Given the description of an element on the screen output the (x, y) to click on. 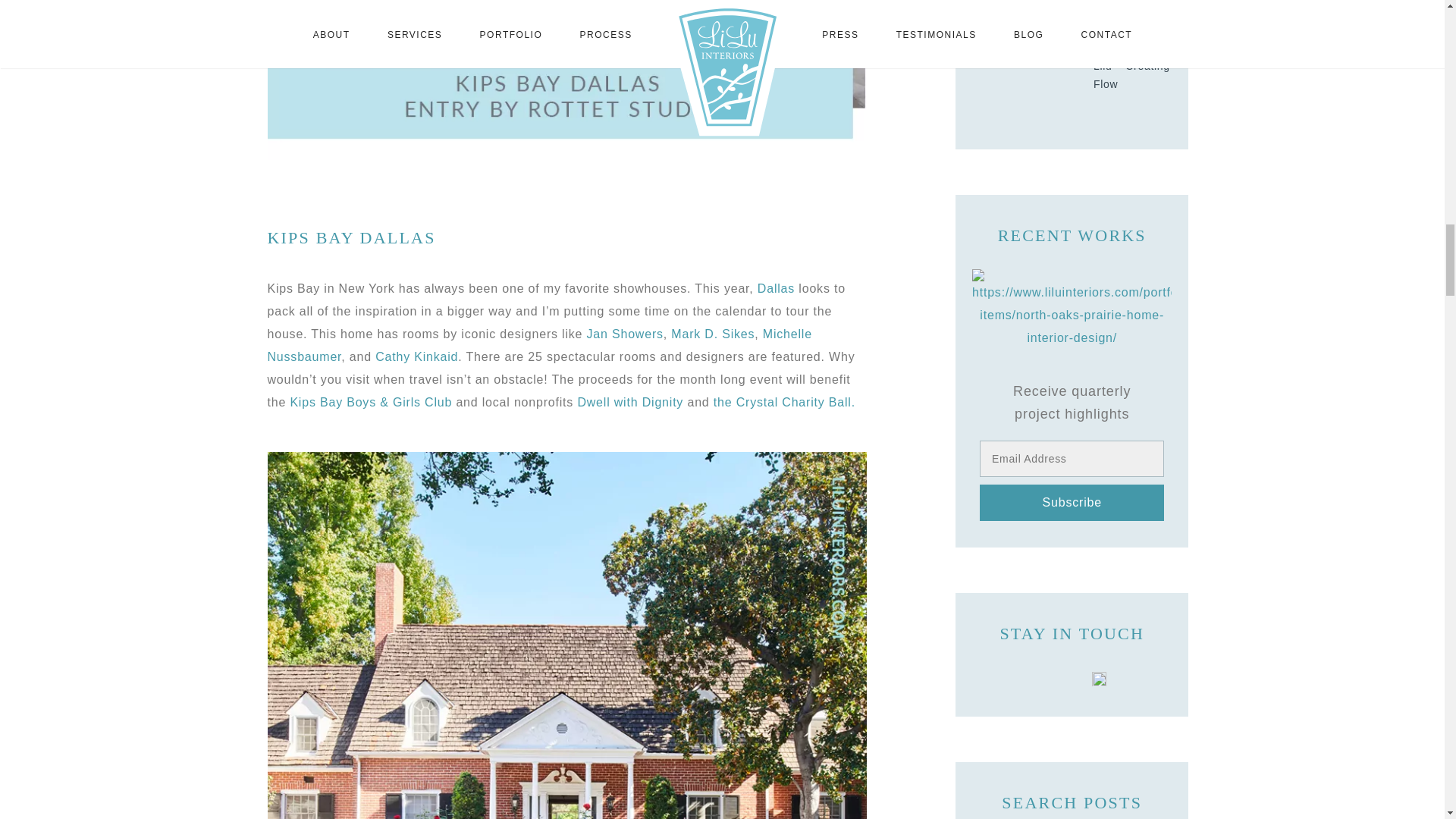
Instagram (1071, 677)
Facebook (1018, 677)
Oasis In the Woods (1072, 308)
Twitter (1045, 677)
Subscribe (1071, 502)
Pinterest (1099, 677)
